Given the description of an element on the screen output the (x, y) to click on. 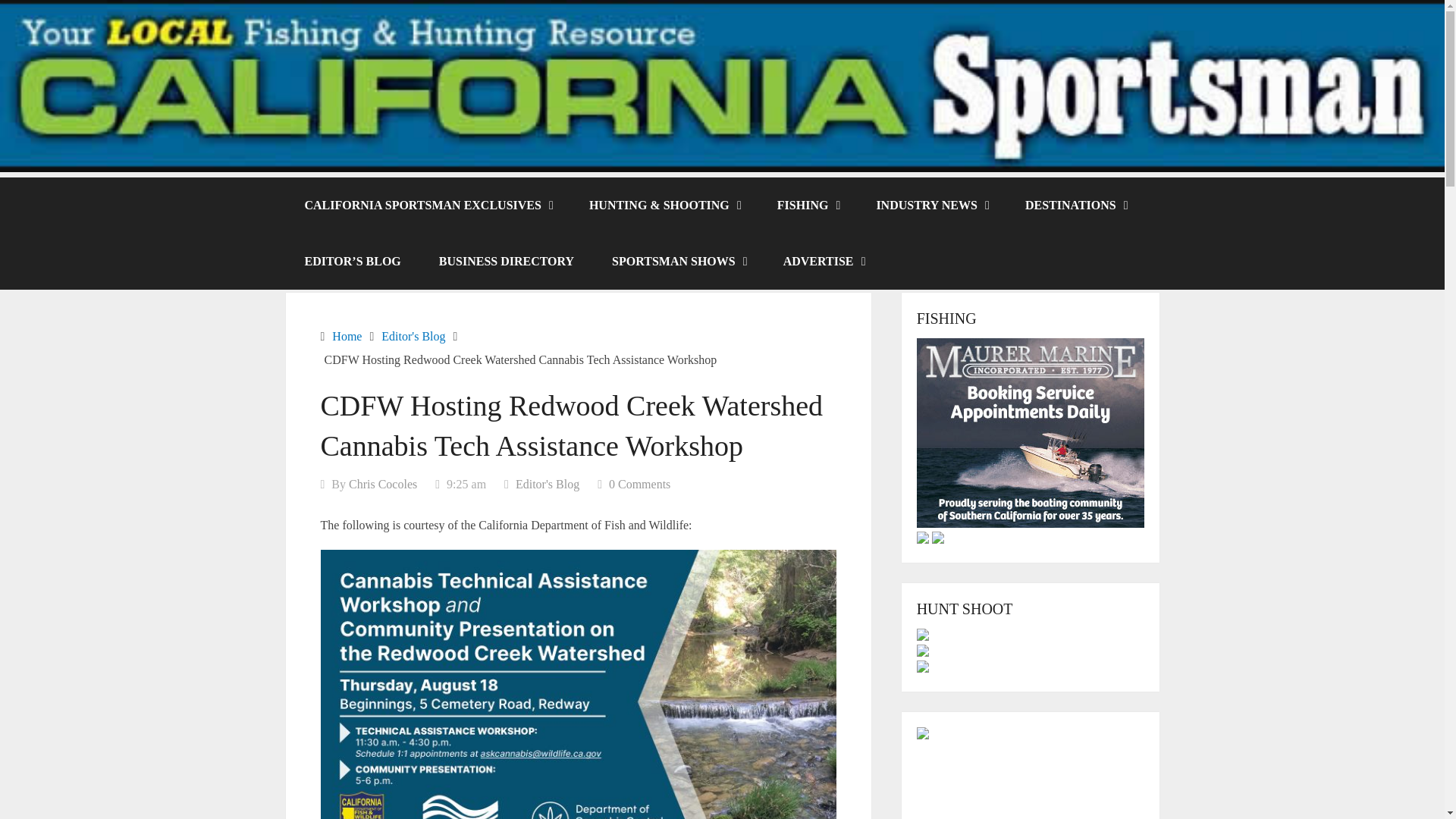
Editor's Blog (547, 483)
SPORTSMAN SHOWS (678, 261)
DESTINATIONS (1075, 205)
FISHING (807, 205)
CALIFORNIA SPORTSMAN EXCLUSIVES (427, 205)
Home (346, 336)
Posts by Chris Cocoles (382, 483)
0 Comments (638, 483)
INDUSTRY NEWS (931, 205)
ADVERTISE (823, 261)
